Given the description of an element on the screen output the (x, y) to click on. 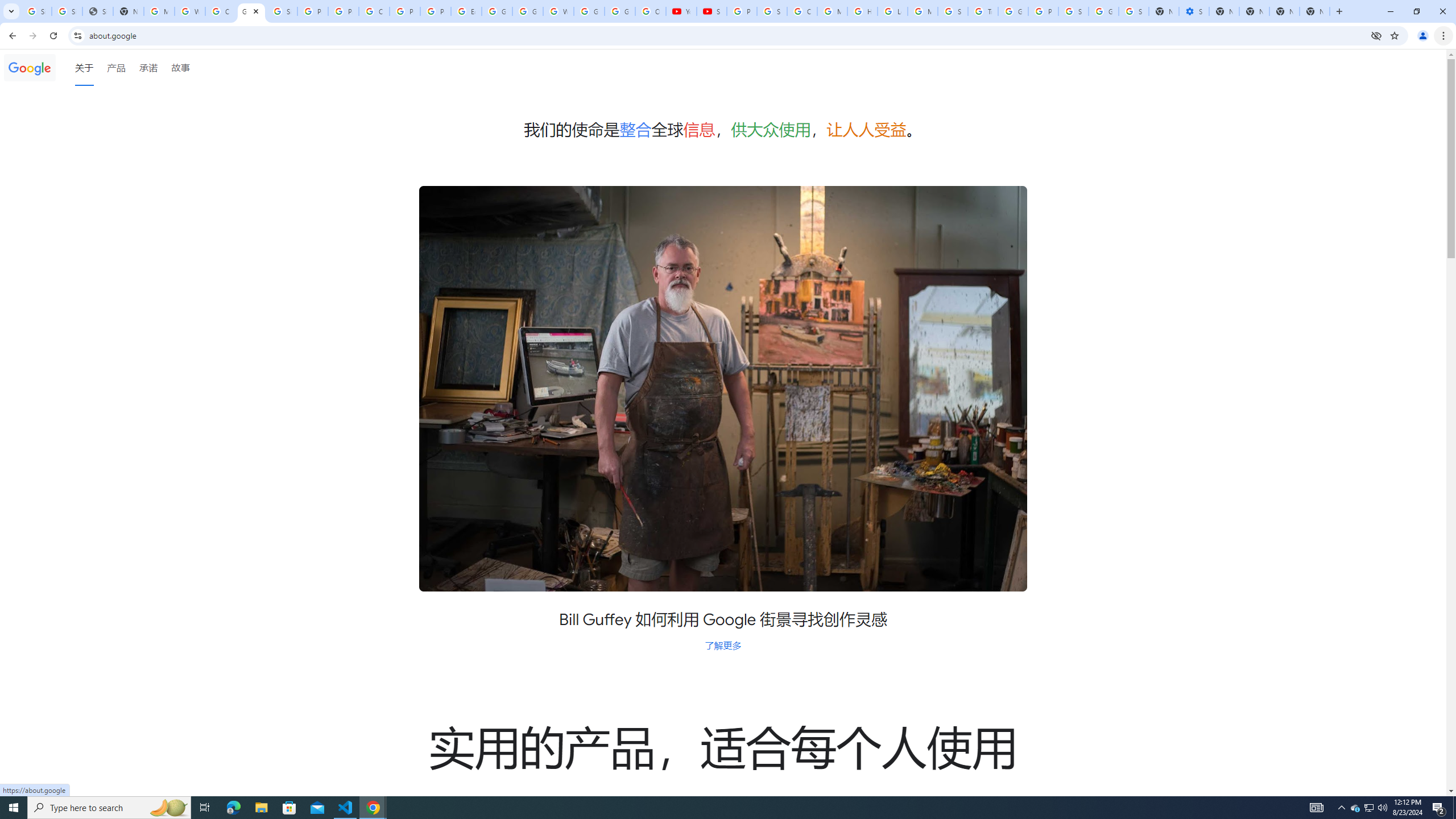
You (1422, 35)
Sign in - Google Accounts (282, 11)
Welcome to My Activity (558, 11)
Reload (52, 35)
Third-party cookies blocked (1376, 35)
Sign in - Google Accounts (66, 11)
View site information (77, 35)
